Given the description of an element on the screen output the (x, y) to click on. 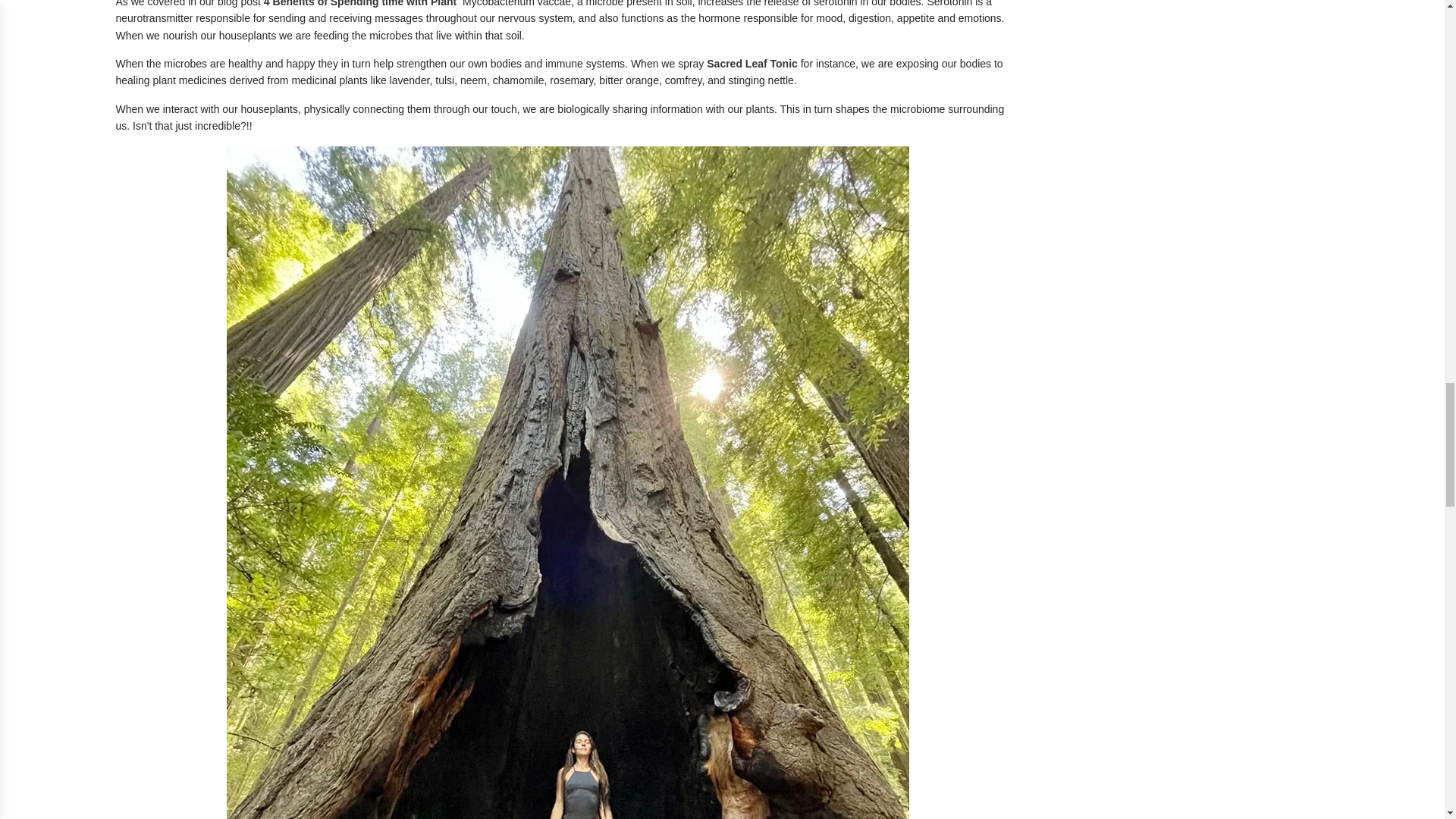
Buy Sacred Leaf Tonic (751, 63)
